Given the description of an element on the screen output the (x, y) to click on. 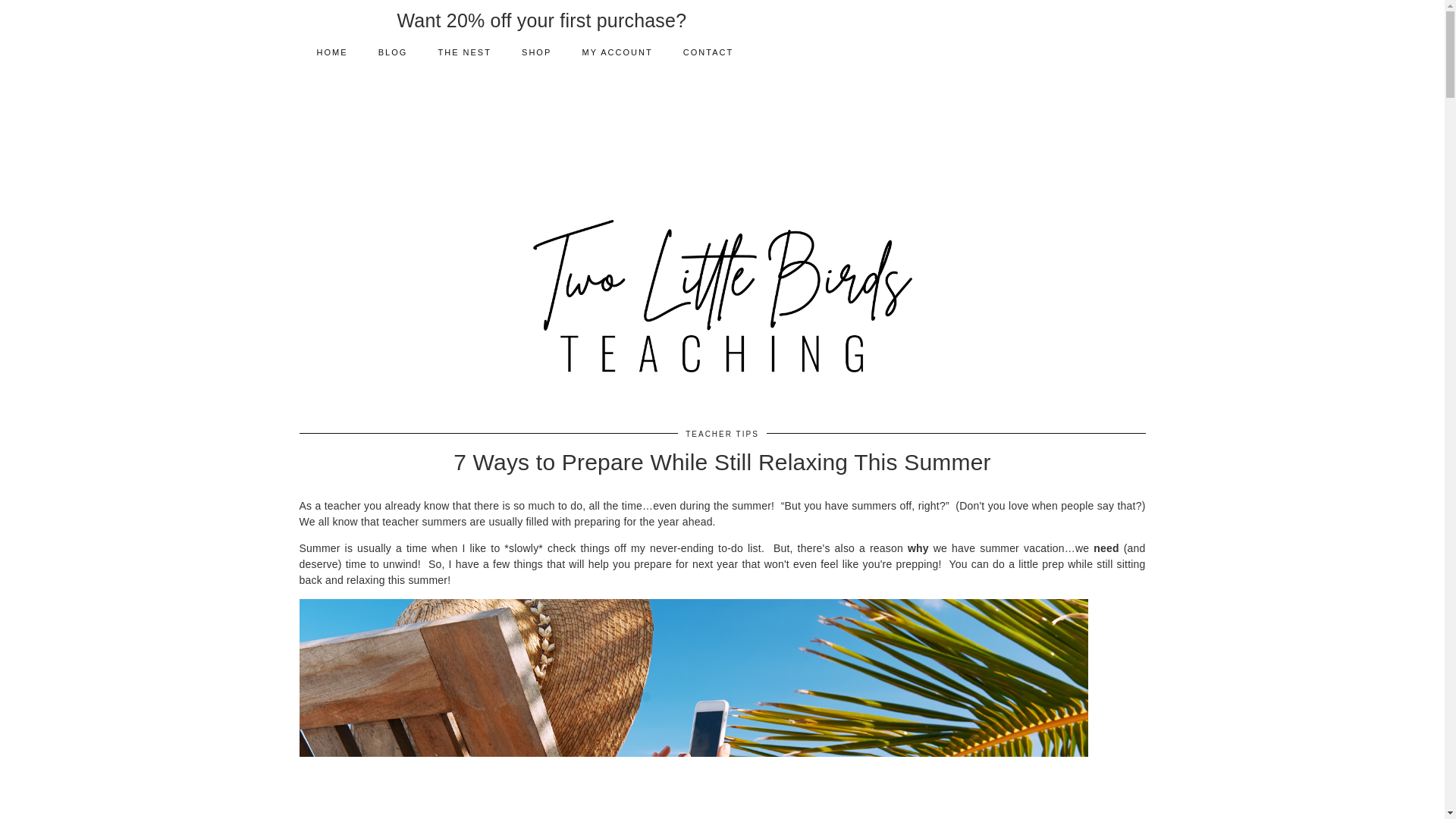
HOME (331, 51)
MY ACCOUNT (616, 51)
TEACHER TIPS (721, 433)
THE NEST (463, 51)
SHOP (536, 51)
CONTACT (708, 51)
BLOG (392, 51)
